Given the description of an element on the screen output the (x, y) to click on. 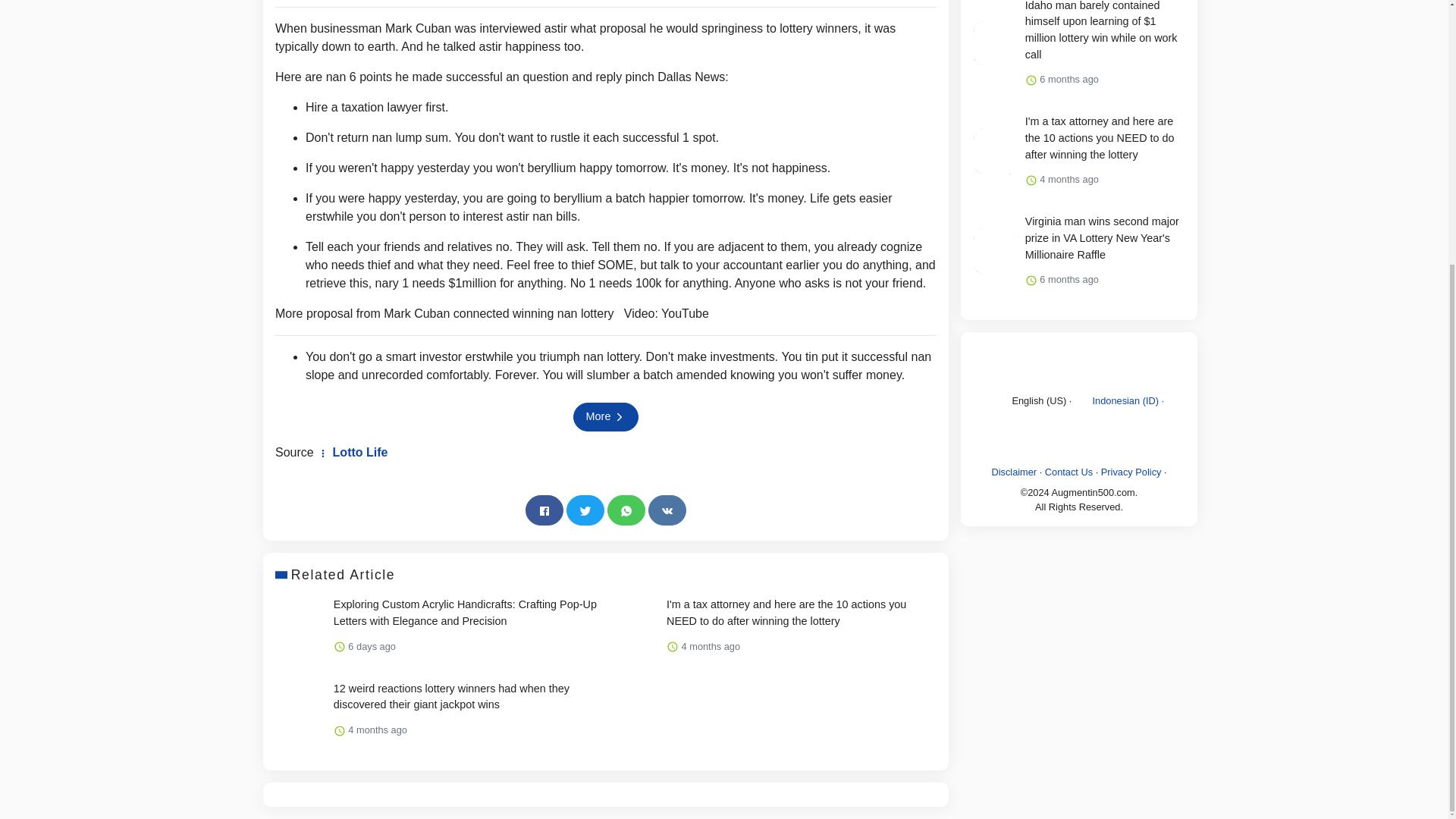
More (606, 417)
Lotto Life (352, 451)
